Given the description of an element on the screen output the (x, y) to click on. 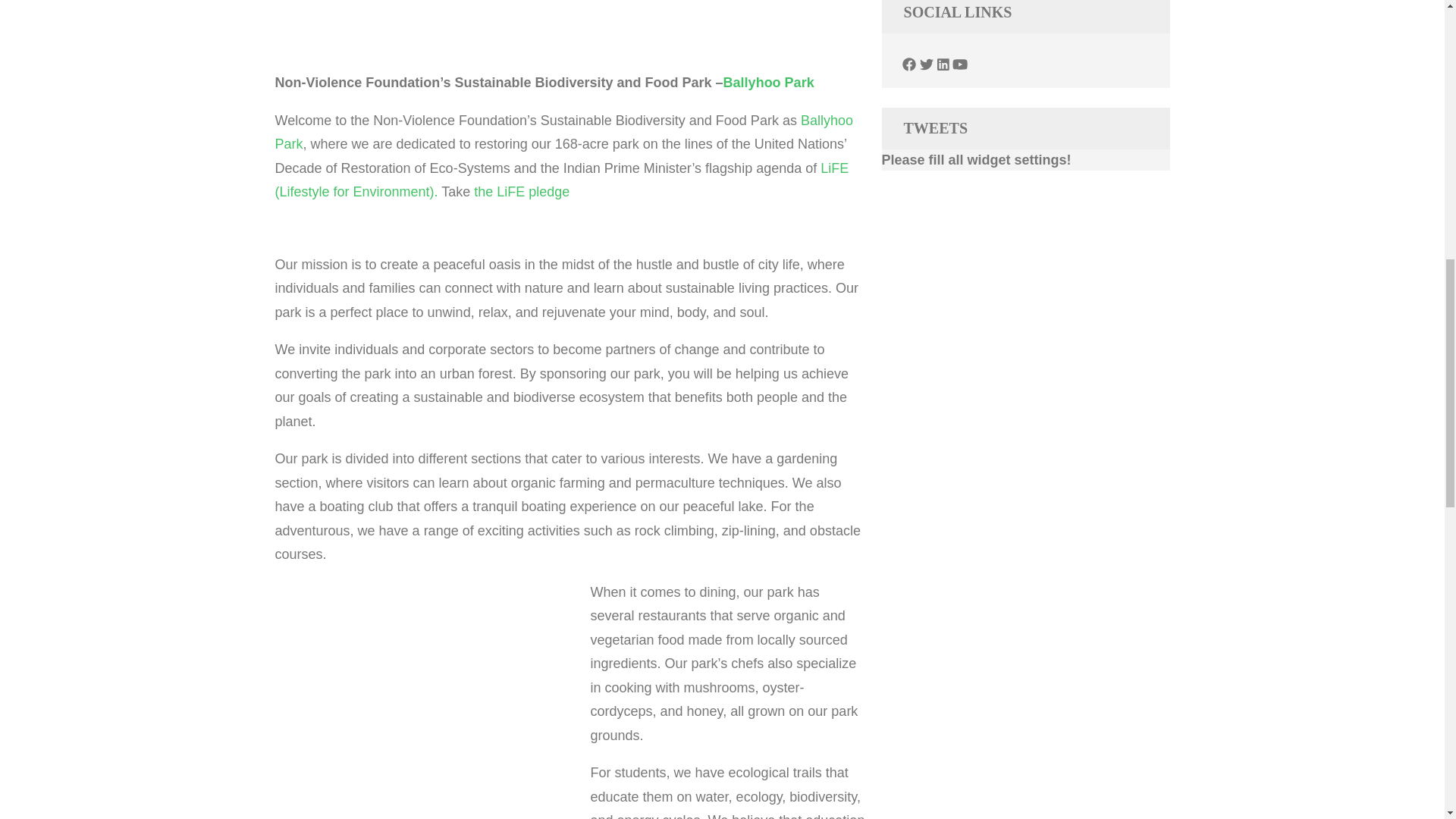
youtube (960, 64)
twitter (926, 64)
facebook (908, 64)
